Given the description of an element on the screen output the (x, y) to click on. 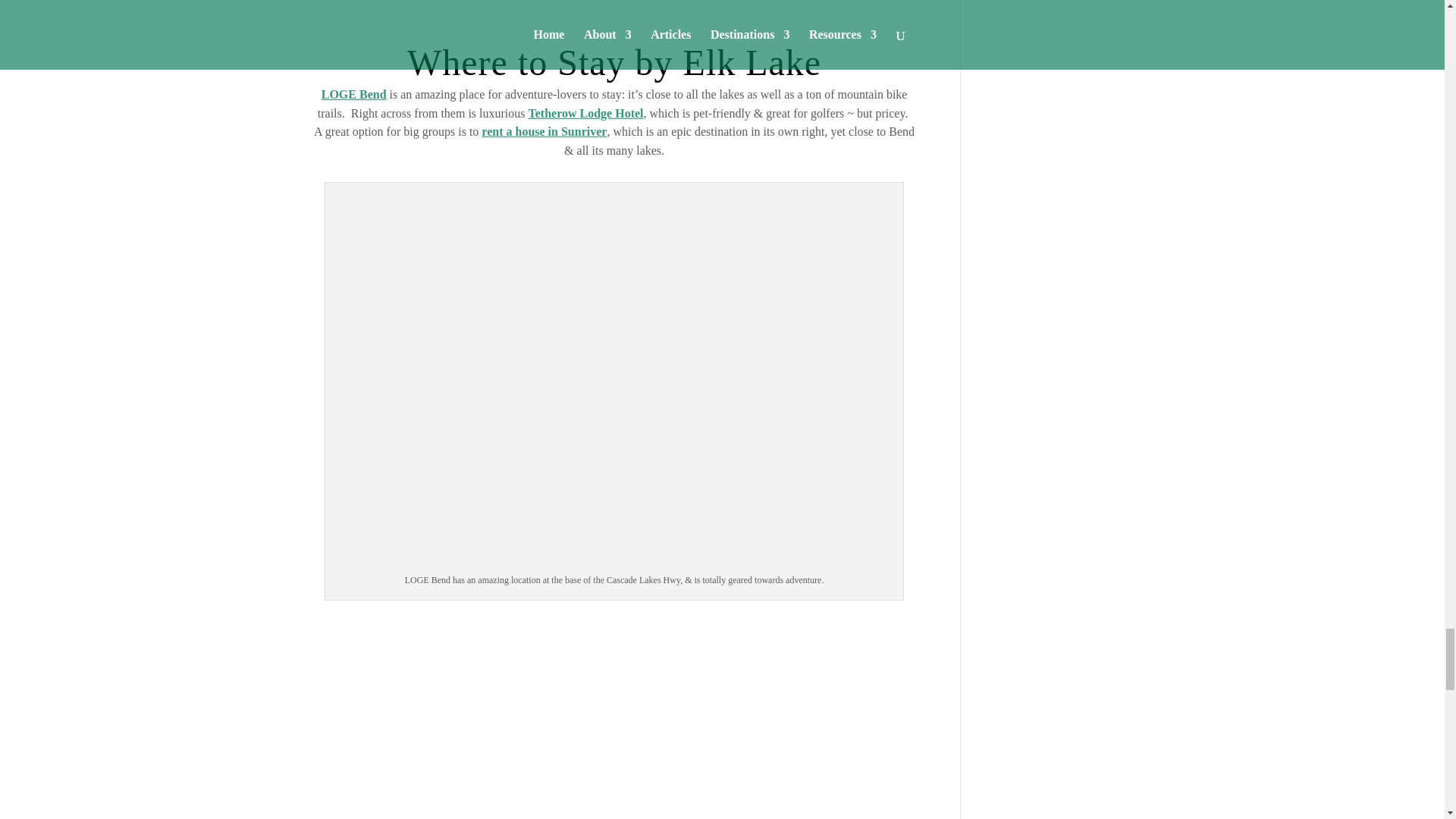
LOGE Bend (354, 93)
Tetherow Lodge Hotel (585, 113)
rent a house in Sunriver (544, 131)
